Given the description of an element on the screen output the (x, y) to click on. 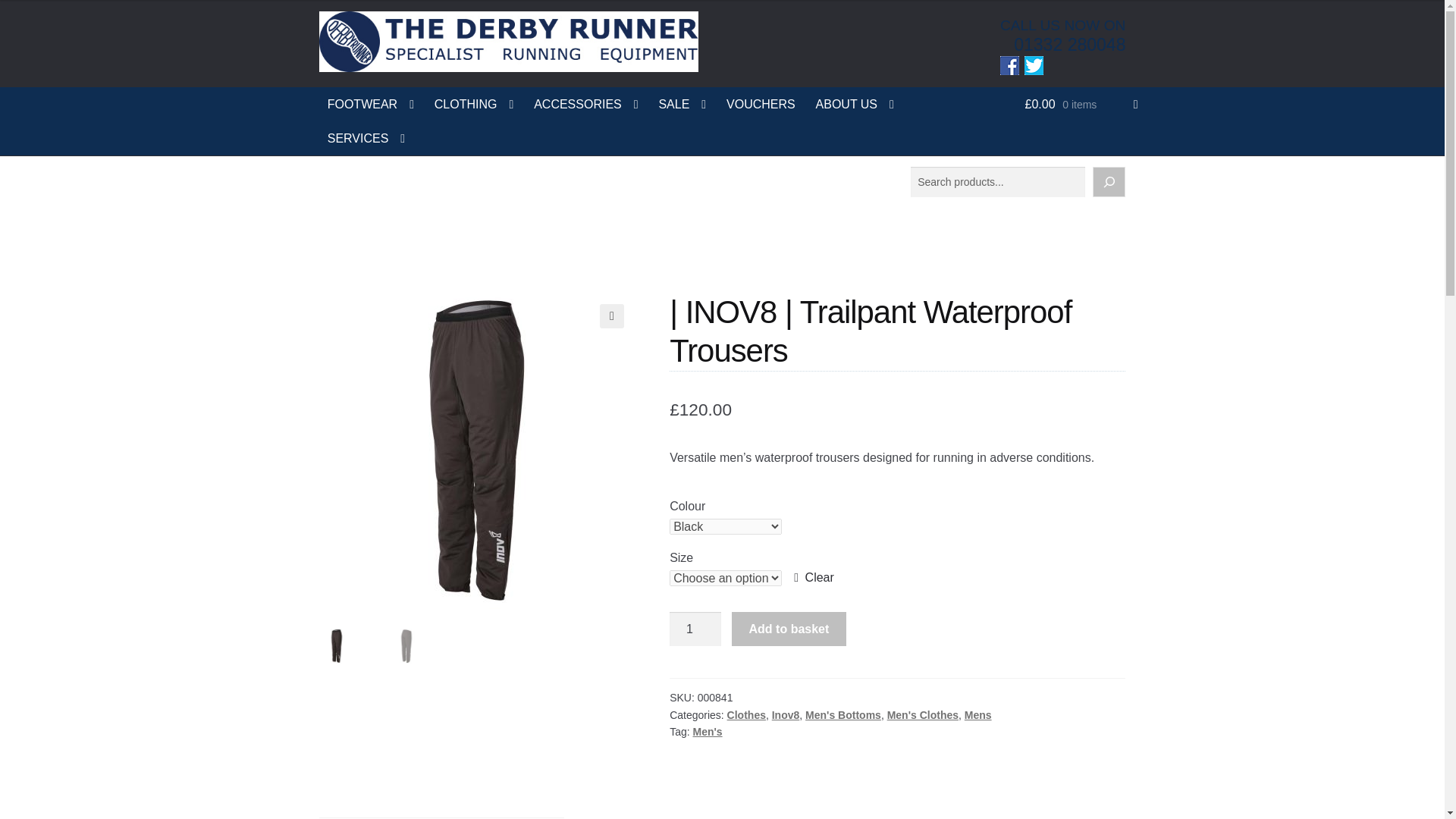
01332 280048 (1069, 44)
View your shopping basket (1081, 103)
Trail Pant M Black Back (792, 451)
Trail Pant M Black Front (476, 451)
CLOTHING (474, 103)
FOOTWEAR (370, 103)
1 (694, 629)
